Given the description of an element on the screen output the (x, y) to click on. 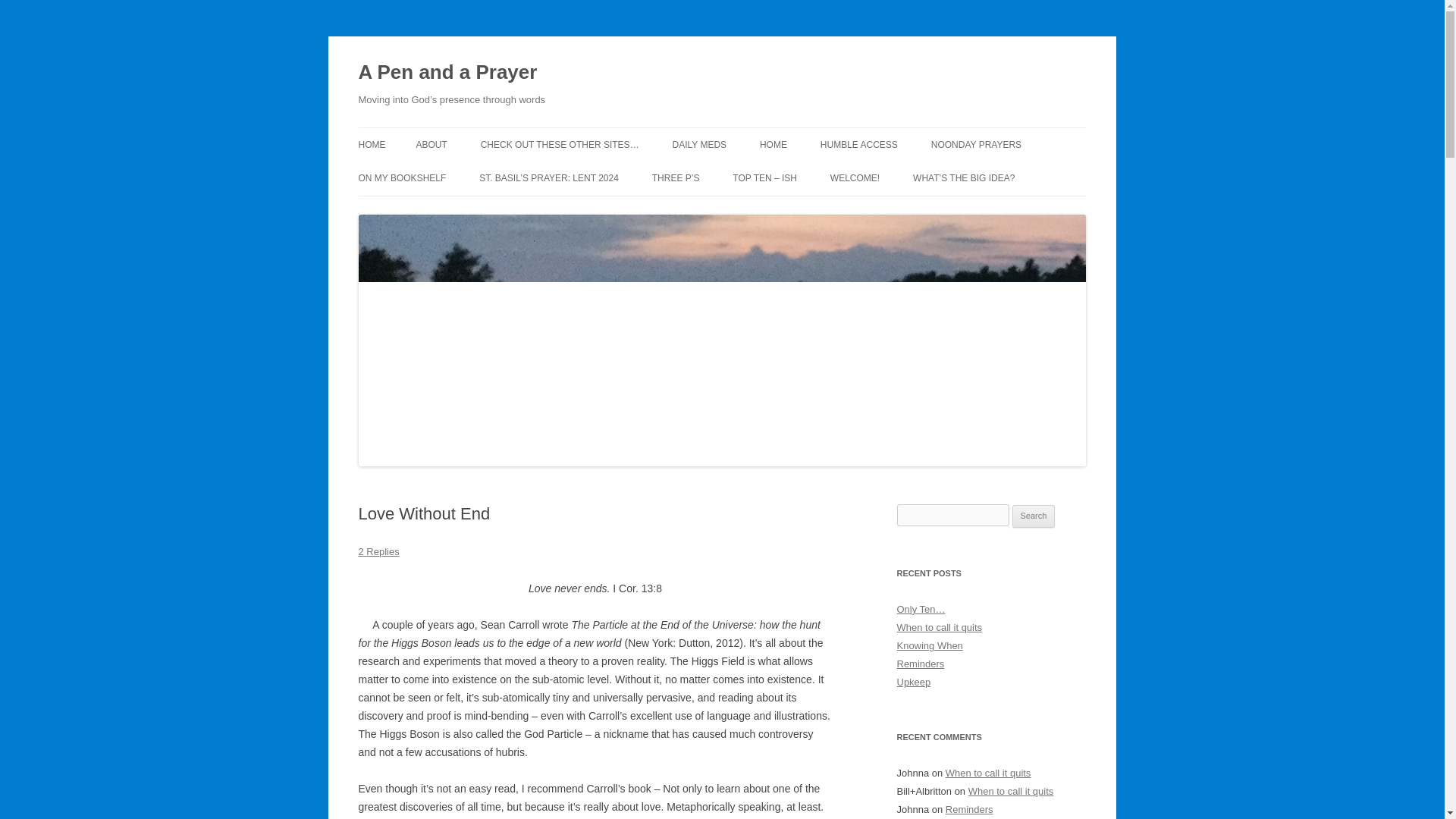
ABOUT (430, 144)
A MORNING RESOLVE (490, 176)
A Pen and a Prayer (447, 72)
Search (1033, 516)
